Given the description of an element on the screen output the (x, y) to click on. 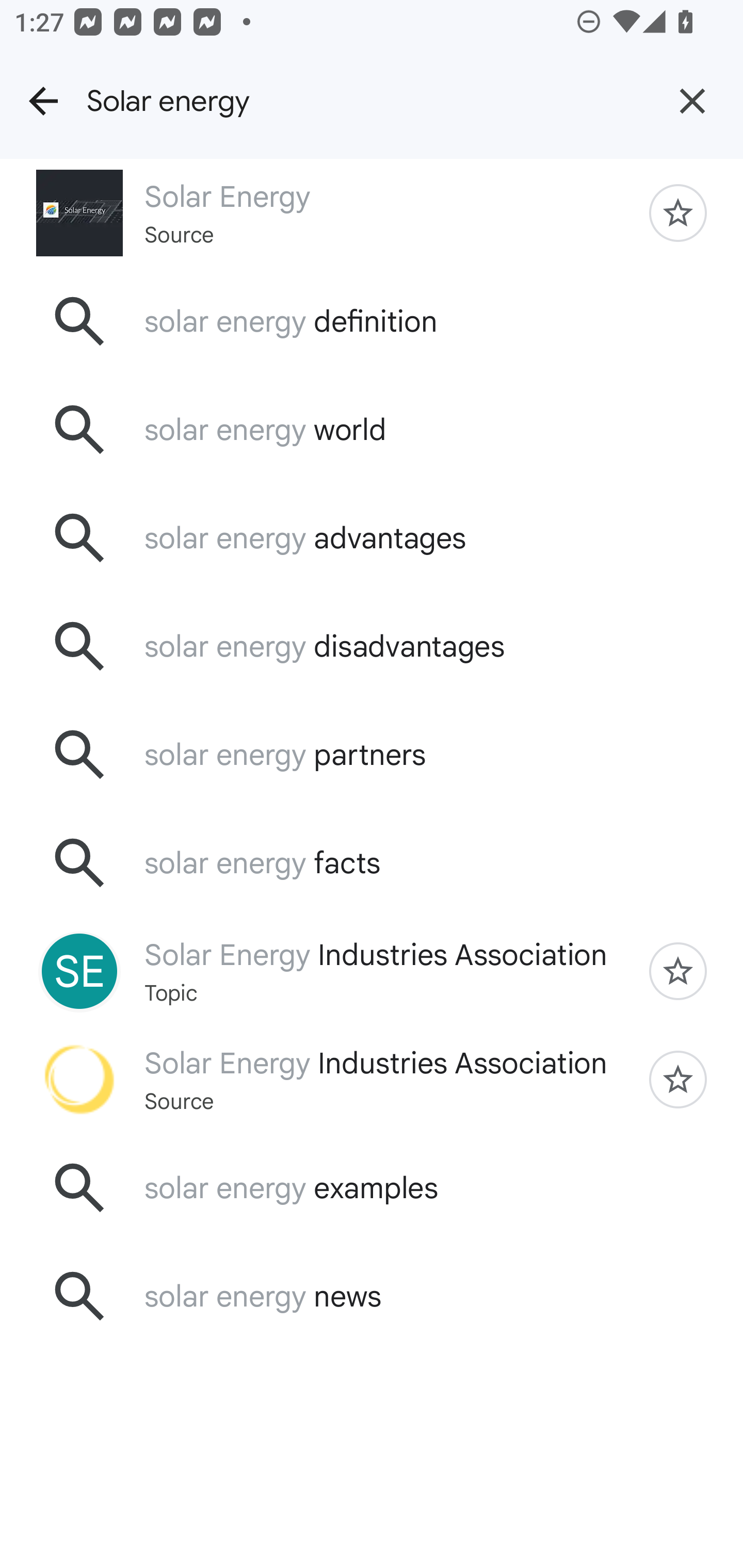
Back (43, 101)
Solar energy (363, 101)
Clear text (692, 101)
Solar Energy Source Follow (371, 212)
Follow (677, 212)
solar energy definition (371, 320)
solar energy world (371, 429)
solar energy advantages (371, 538)
solar energy disadvantages (371, 646)
solar energy partners (371, 754)
solar energy facts (371, 863)
Follow (677, 971)
Solar Energy Industries Association Source Follow (371, 1079)
Follow (677, 1079)
solar energy examples (371, 1187)
solar energy news (371, 1295)
